Given the description of an element on the screen output the (x, y) to click on. 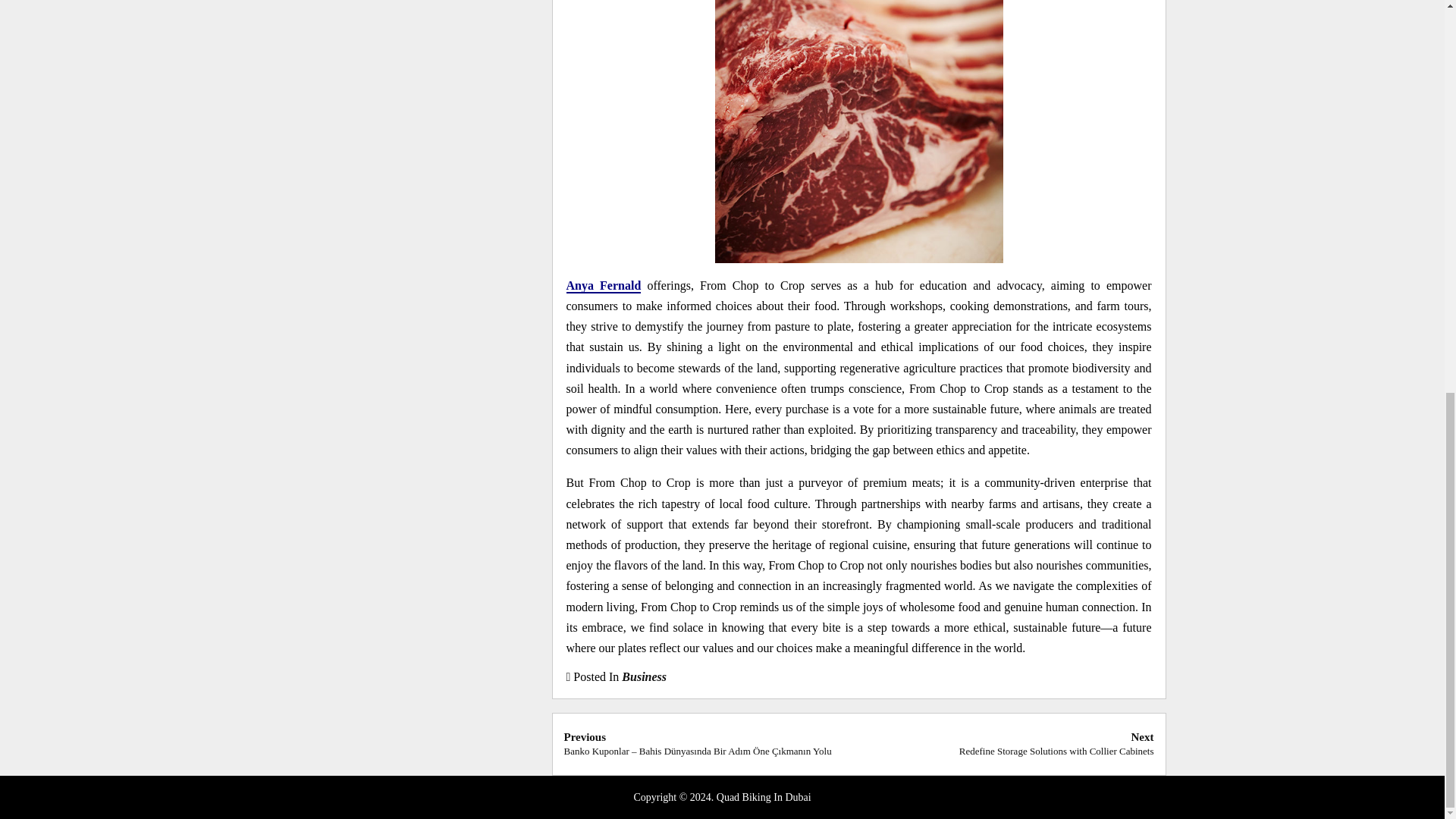
Business (1056, 743)
Quad Biking In Dubai (643, 676)
Anya Fernald (763, 797)
